Given the description of an element on the screen output the (x, y) to click on. 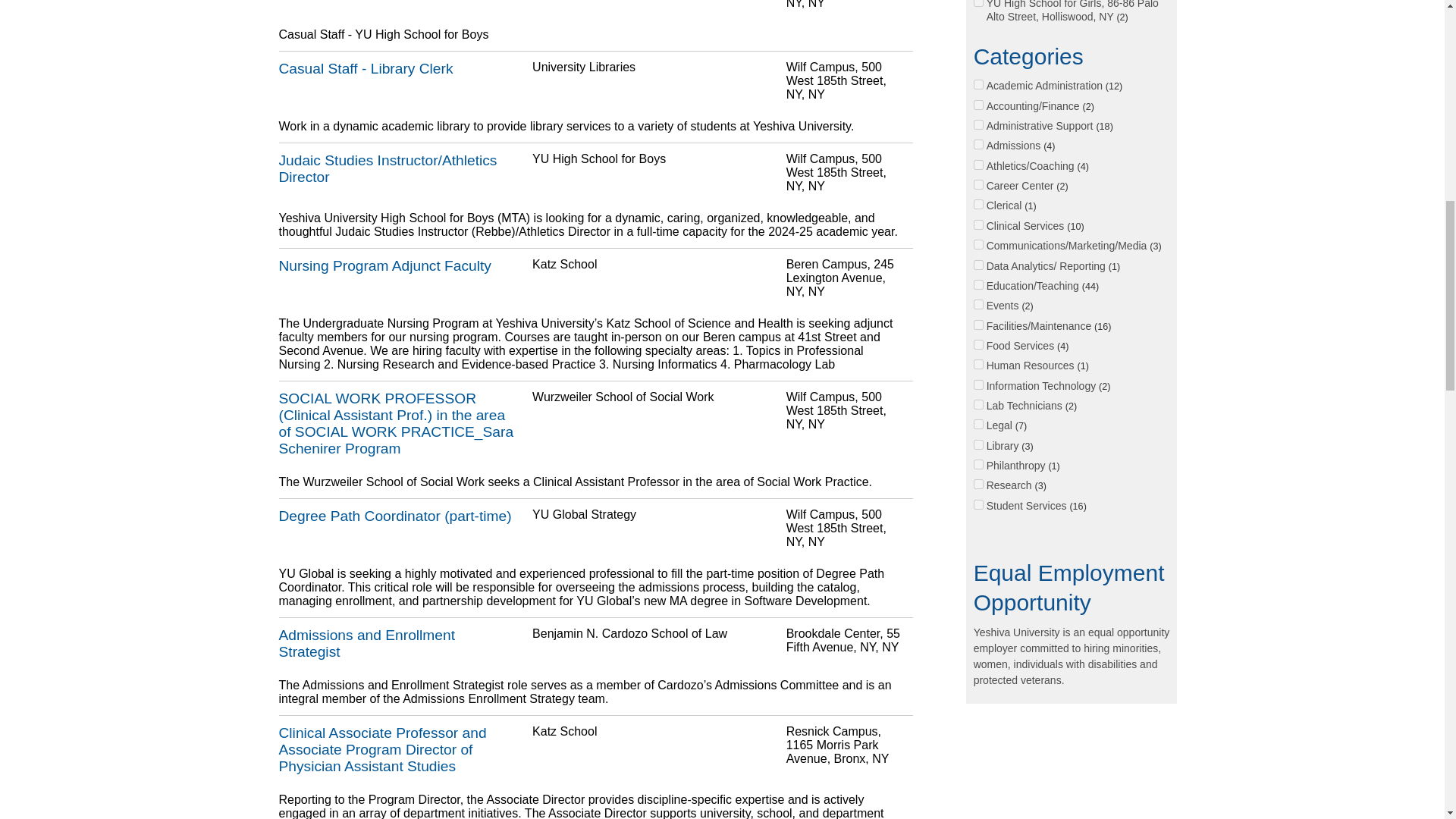
Clerical (979, 204)
Admissions (979, 144)
Administrative Support (979, 124)
Academic Administration (979, 84)
Career Center (979, 184)
Casual Staff - Library Clerk (400, 68)
Clinical Services (979, 225)
